Given the description of an element on the screen output the (x, y) to click on. 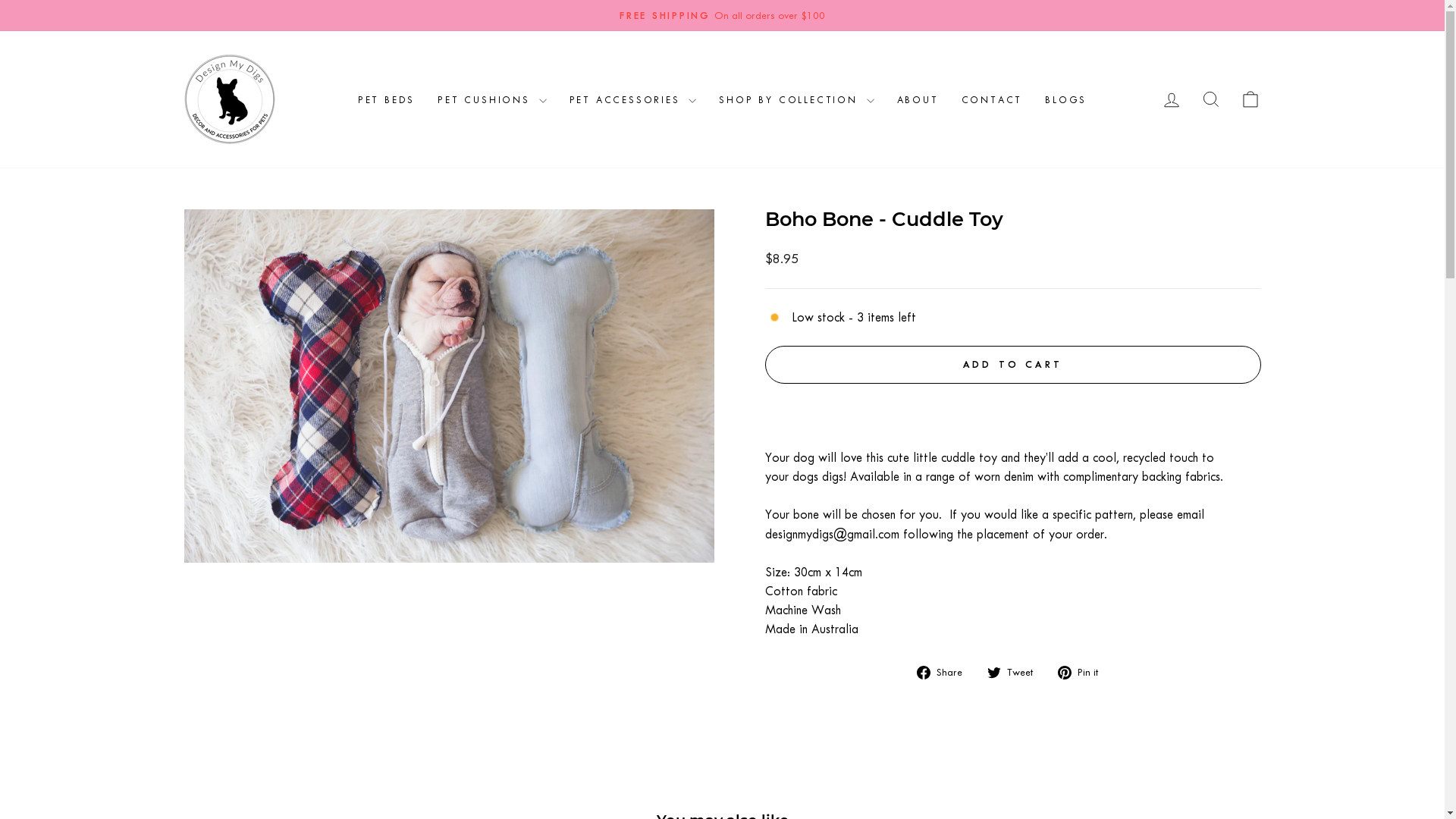
twitter Tweet
Tweet on Twitter Element type: text (1015, 671)
CONTACT Element type: text (992, 99)
Pin it
Pin on Pinterest Element type: text (1082, 671)
BLOGS Element type: text (1065, 99)
ADD TO CART Element type: text (1012, 364)
ICON-BAG-MINIMAL
CART Element type: text (1249, 99)
Share
Share on Facebook Element type: text (944, 671)
ABOUT Element type: text (917, 99)
ACCOUNT
LOG IN Element type: text (1170, 99)
PET BEDS Element type: text (386, 99)
ICON-SEARCH
SEARCH Element type: text (1210, 99)
